Given the description of an element on the screen output the (x, y) to click on. 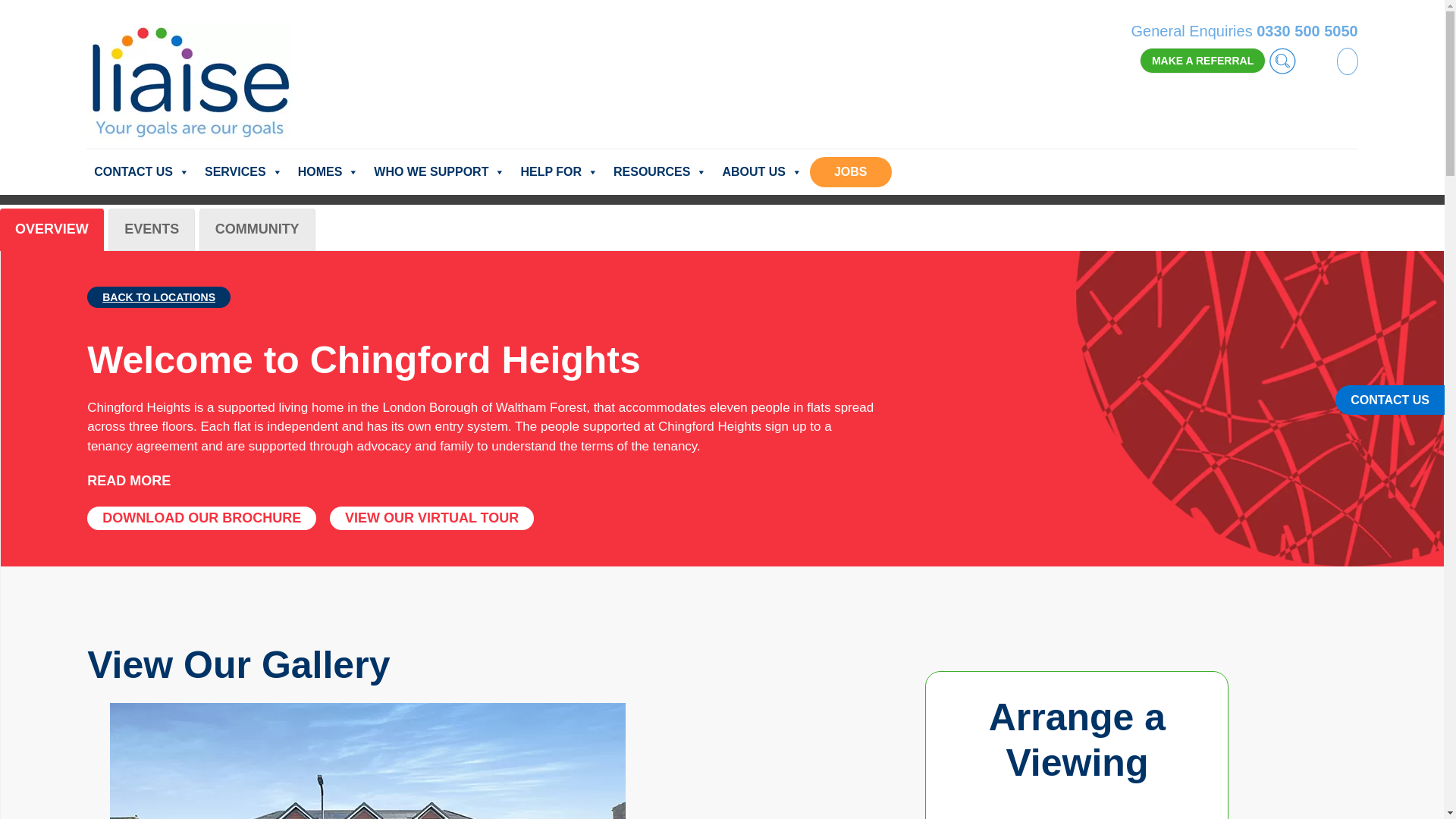
MAKE A REFERRAL (1202, 60)
SERVICES (242, 172)
RESOURCES (659, 172)
Easy Read (1318, 60)
WHO WE SUPPORT (439, 172)
HOMES (327, 172)
0330 500 5050 (1306, 30)
HELP FOR (558, 172)
Make a referral (1202, 60)
